Given the description of an element on the screen output the (x, y) to click on. 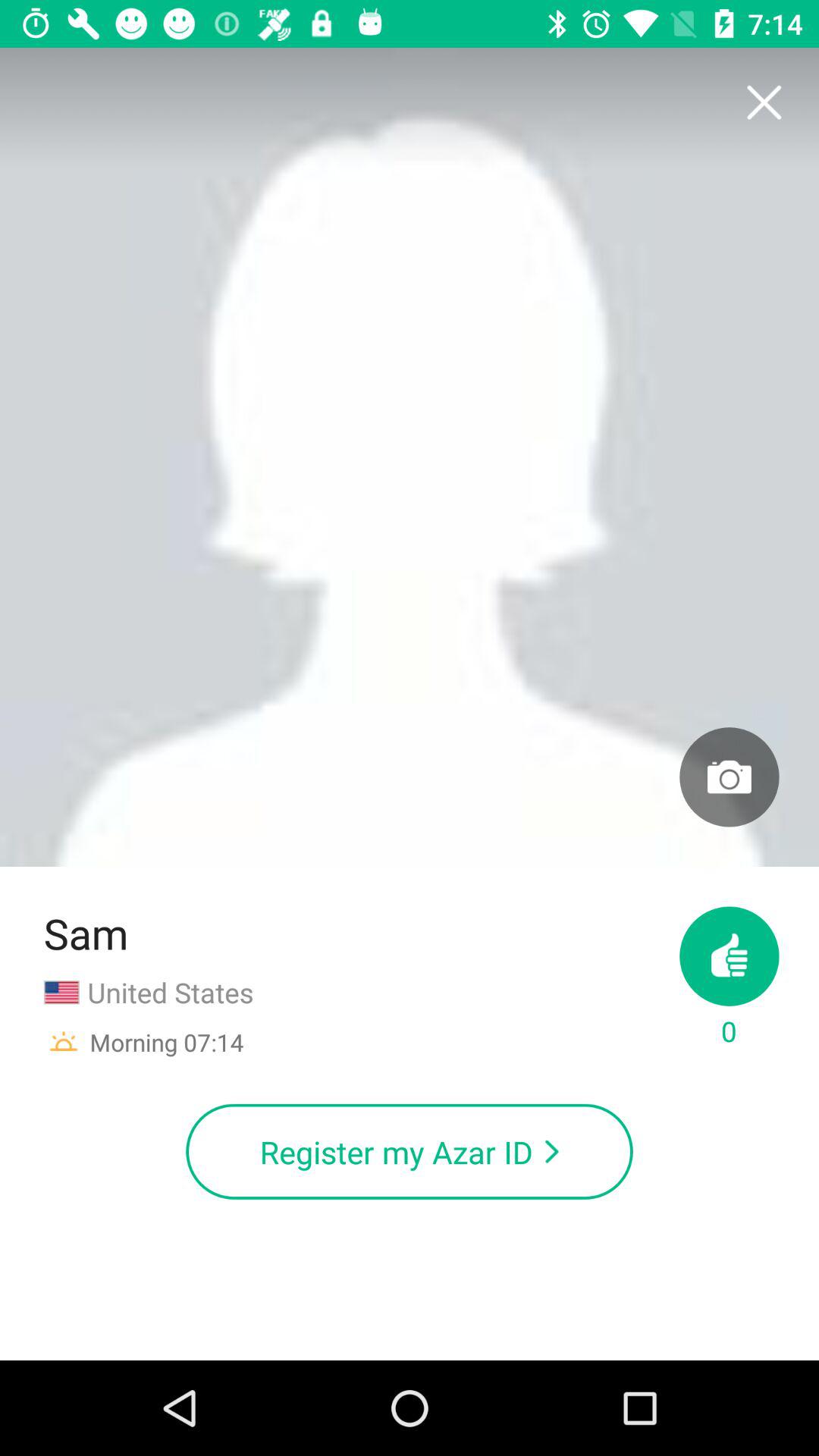
exit profile (763, 103)
